Given the description of an element on the screen output the (x, y) to click on. 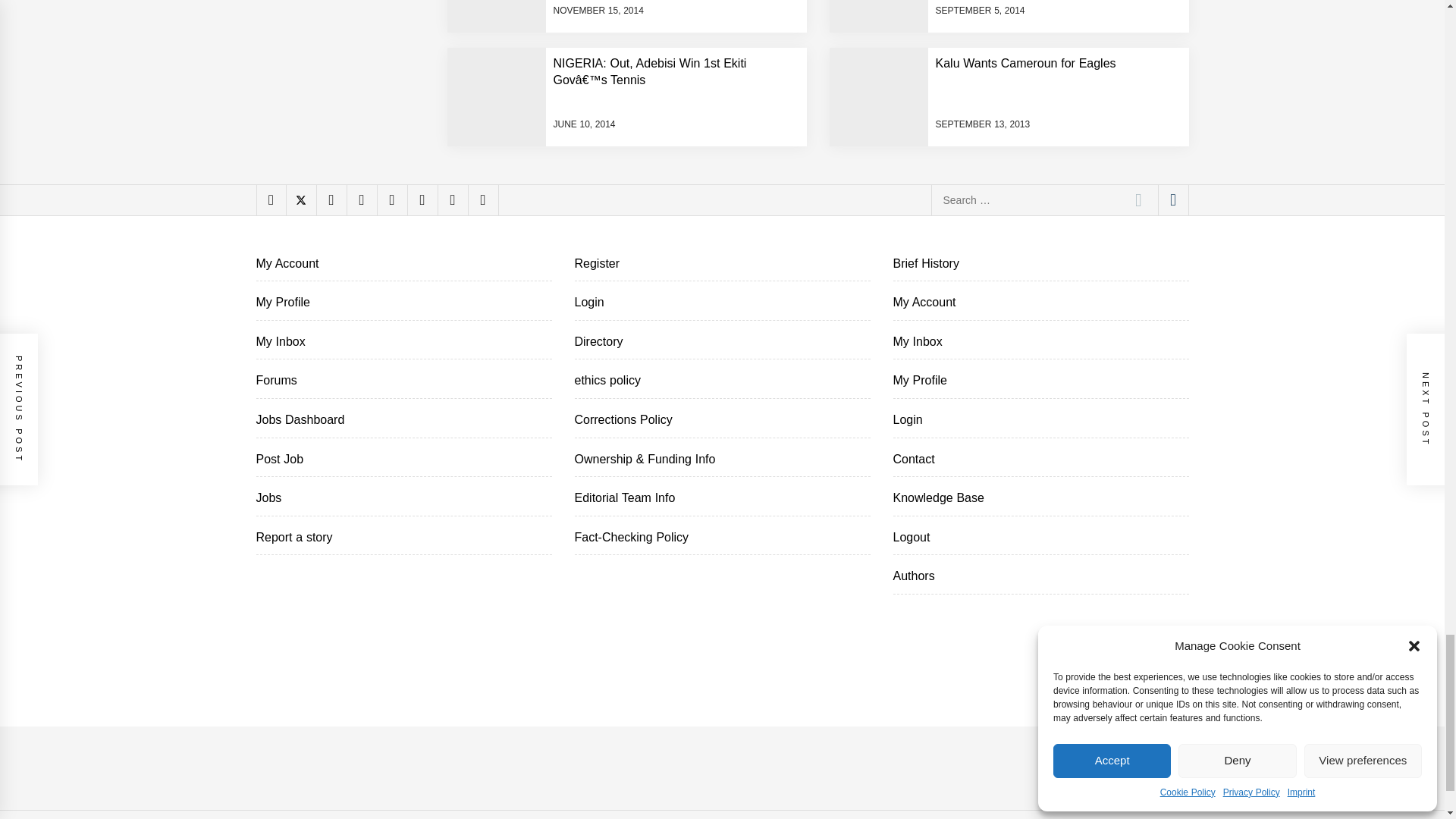
Search (1138, 200)
Search (1138, 200)
